Given the description of an element on the screen output the (x, y) to click on. 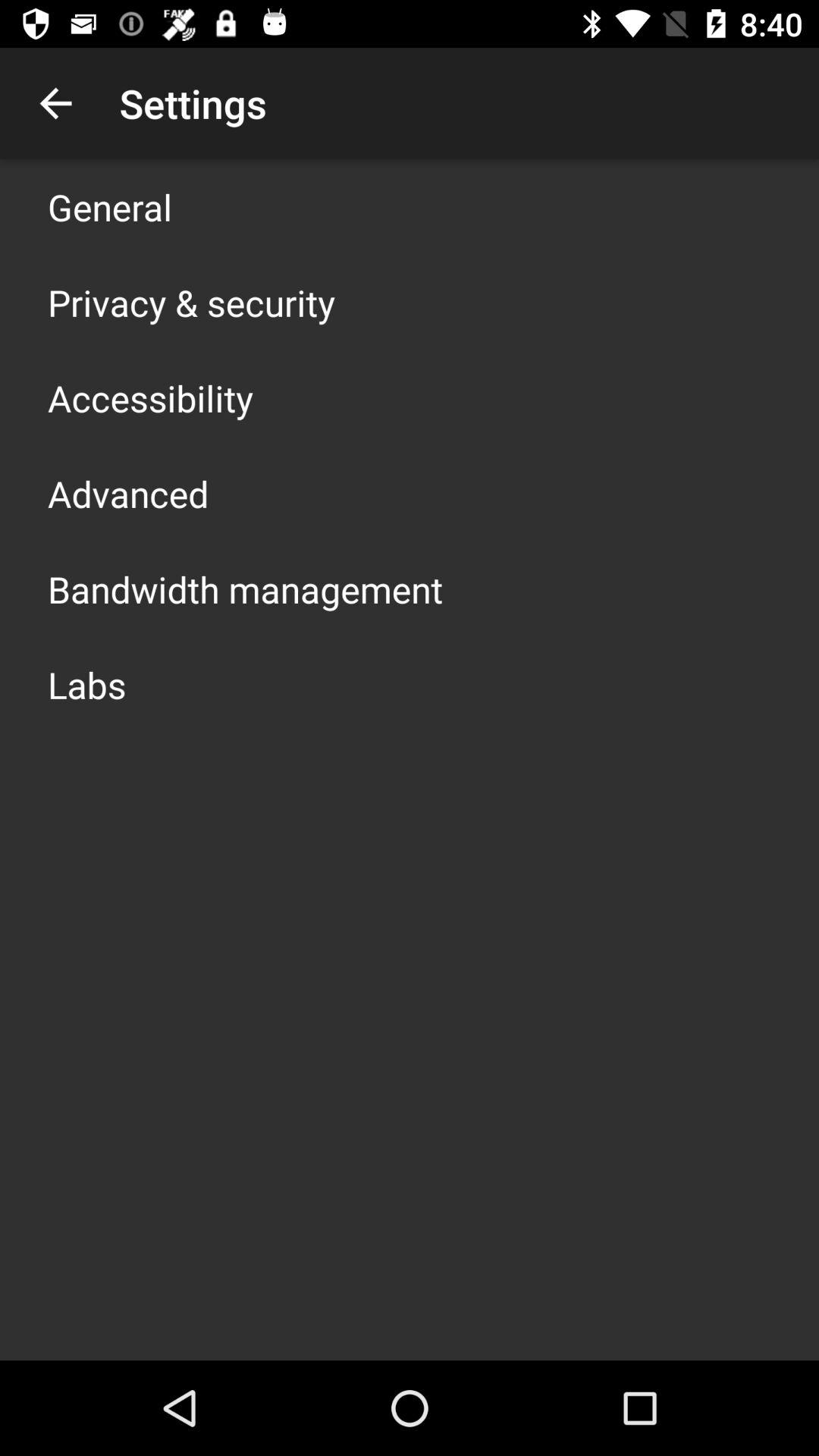
launch bandwidth management icon (245, 588)
